Given the description of an element on the screen output the (x, y) to click on. 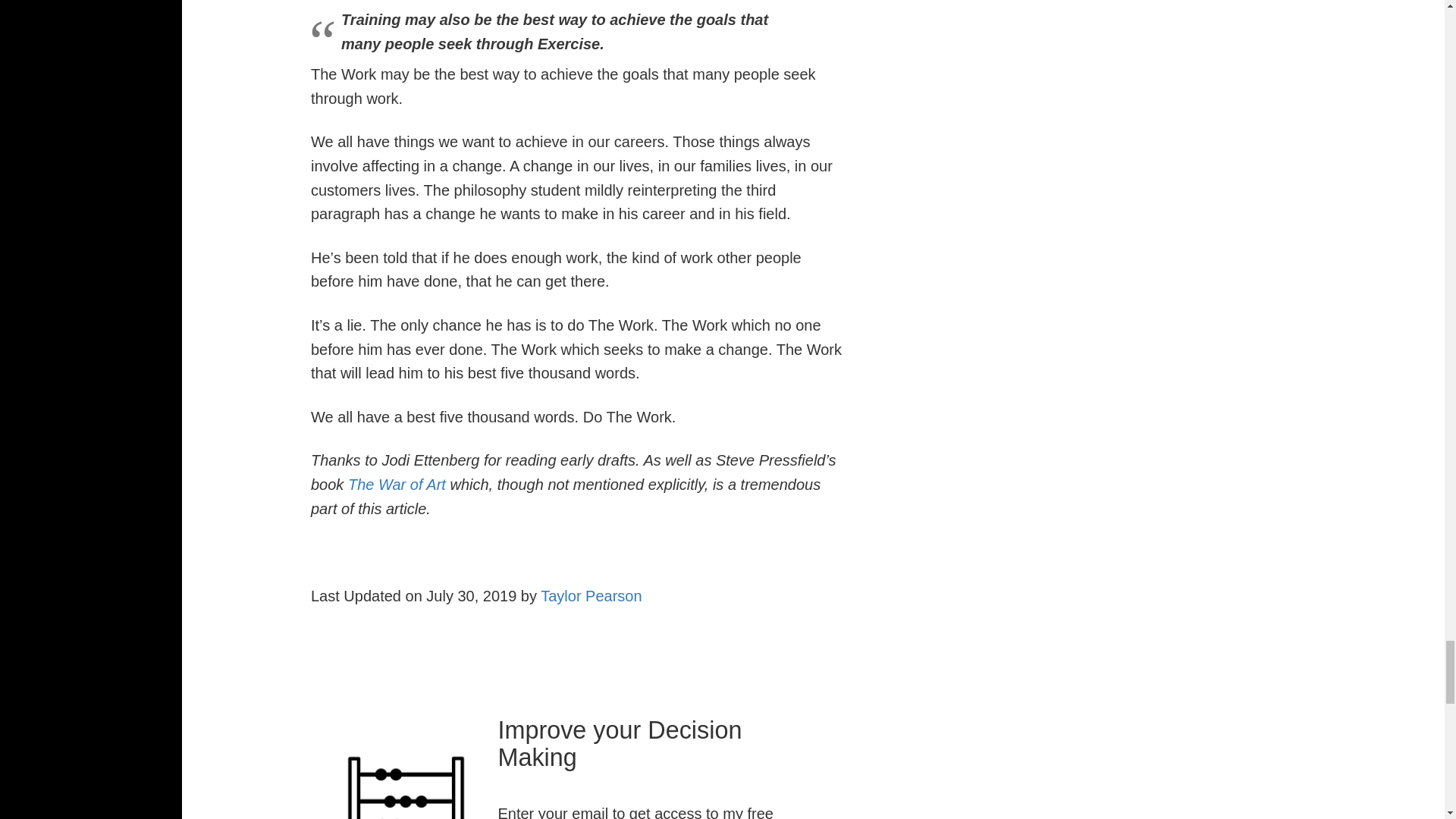
The War of Art (396, 484)
111924-200 (405, 774)
